Given the description of an element on the screen output the (x, y) to click on. 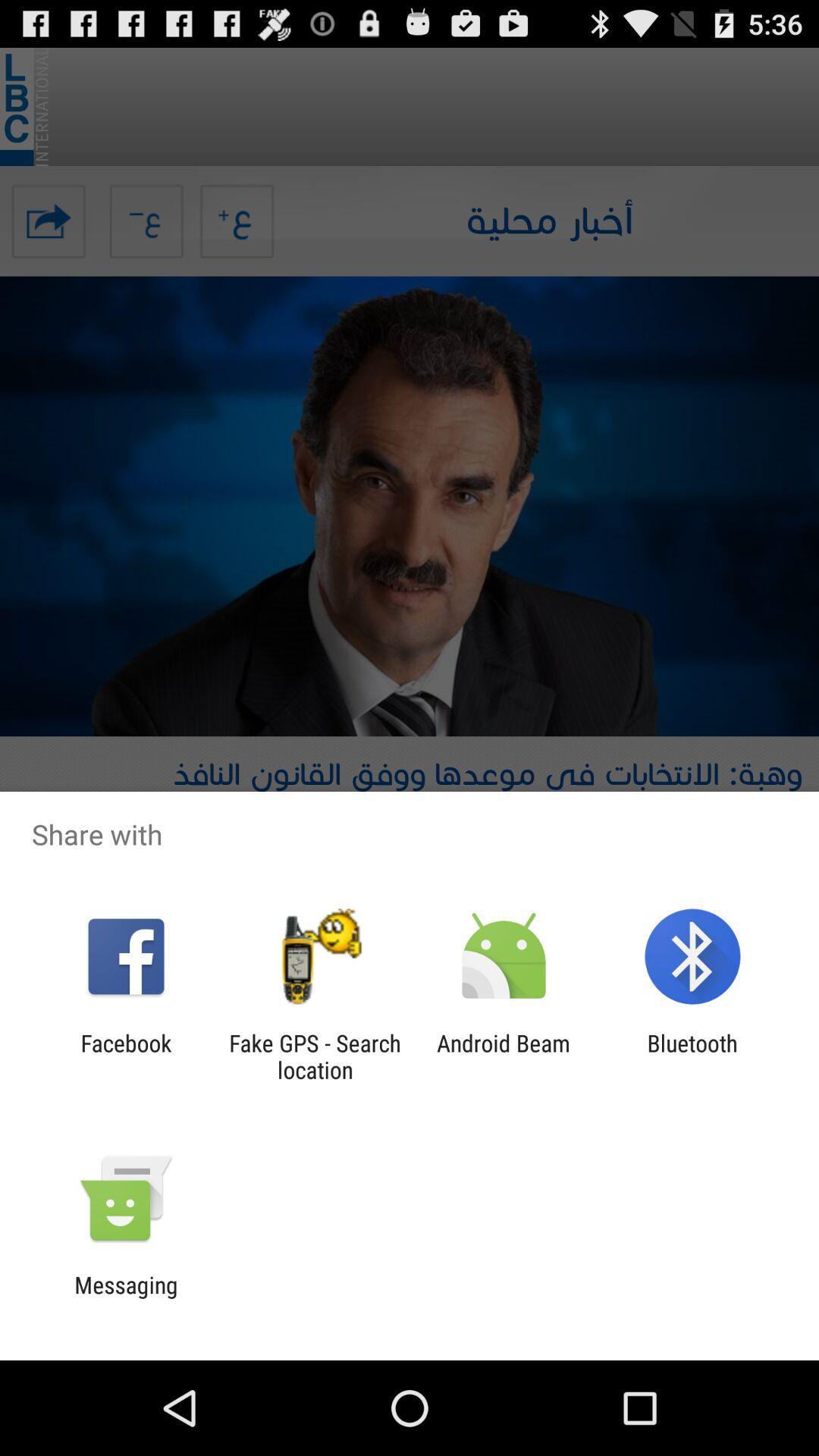
launch fake gps search icon (314, 1056)
